Given the description of an element on the screen output the (x, y) to click on. 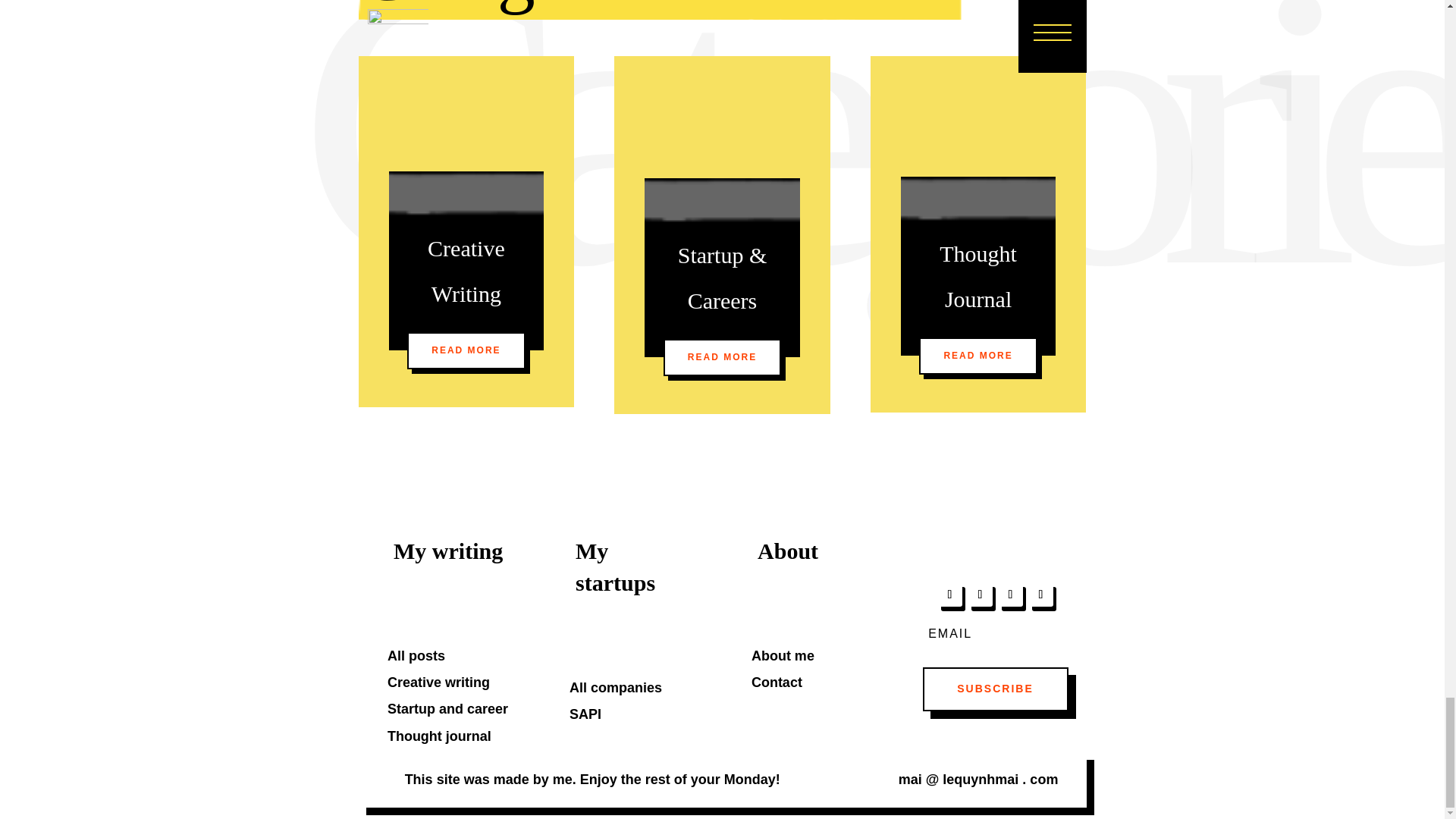
SUBSCRIBE (994, 689)
READ MORE (465, 350)
READ MORE (977, 355)
READ MORE (721, 357)
